Given the description of an element on the screen output the (x, y) to click on. 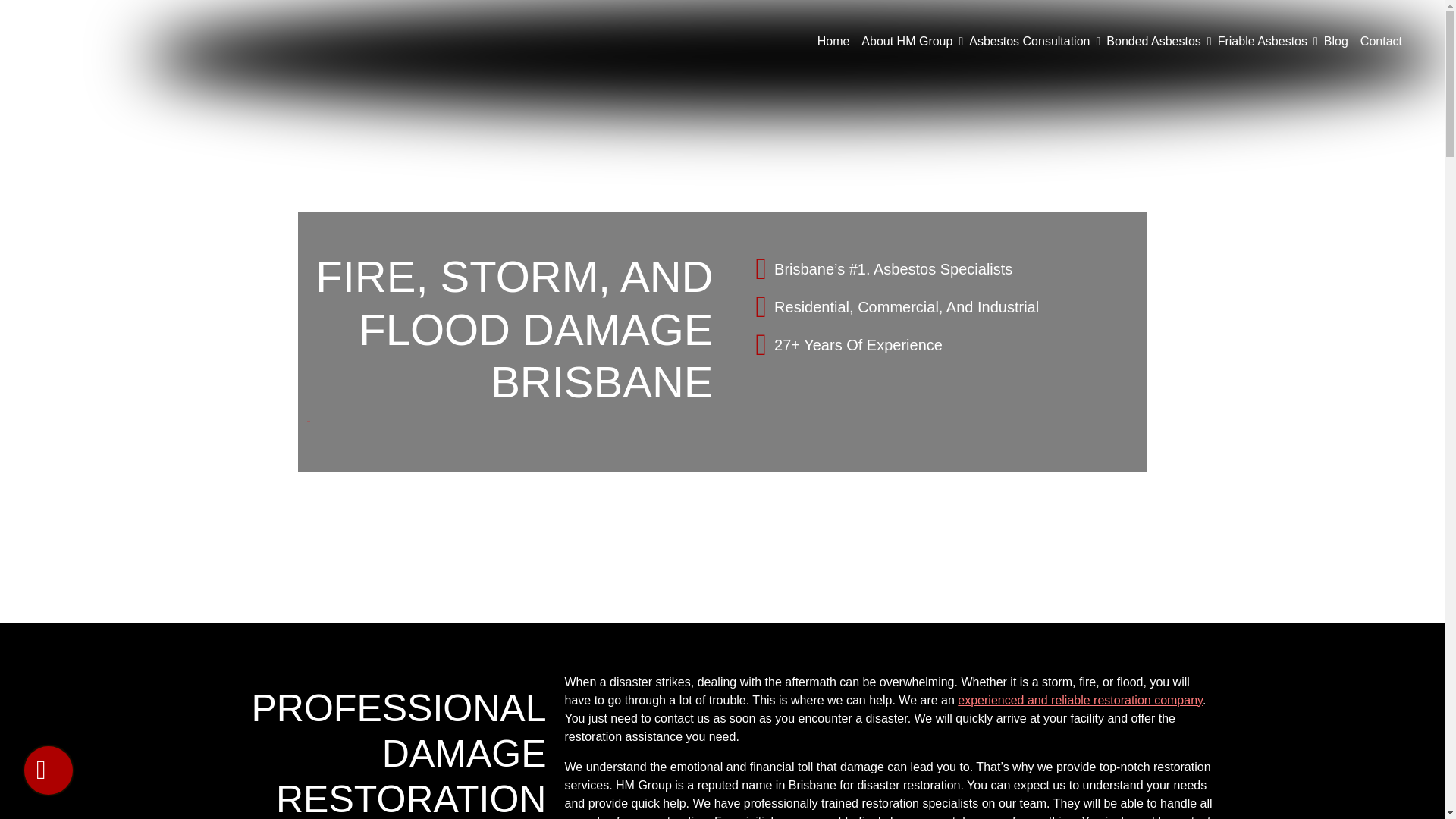
Contact (1380, 41)
About HM Group (907, 41)
experienced and reliable restoration company (1080, 699)
Bonded Asbestos (1153, 41)
Friable Asbestos (1262, 41)
Asbestos Consultation (1029, 41)
Blog (1335, 41)
Home (833, 41)
